Given the description of an element on the screen output the (x, y) to click on. 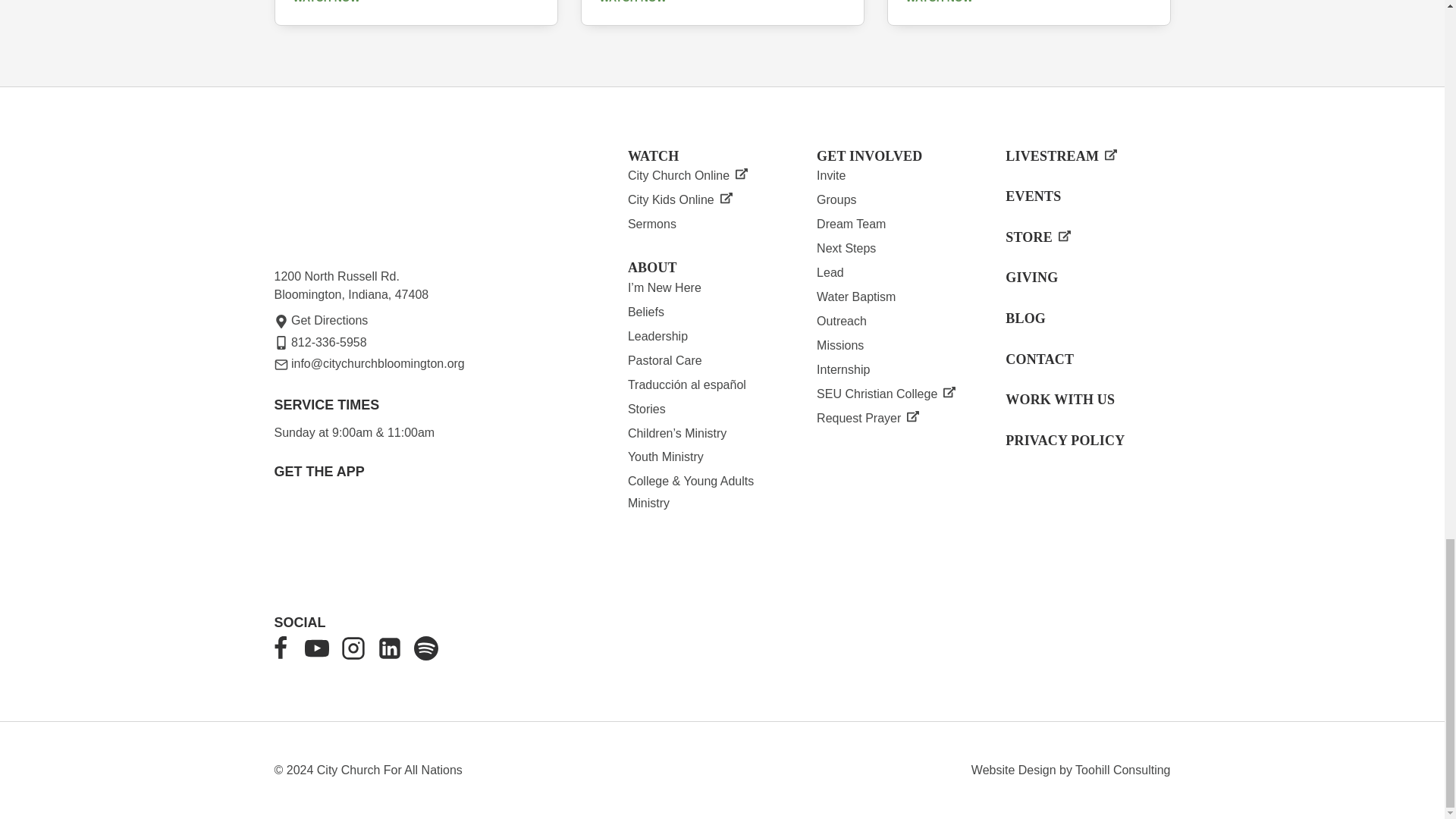
Download on the App Store (422, 536)
Get Directions to City Church (321, 319)
Toohill Consulting (1122, 769)
Download on the App Store (320, 542)
